Given the description of an element on the screen output the (x, y) to click on. 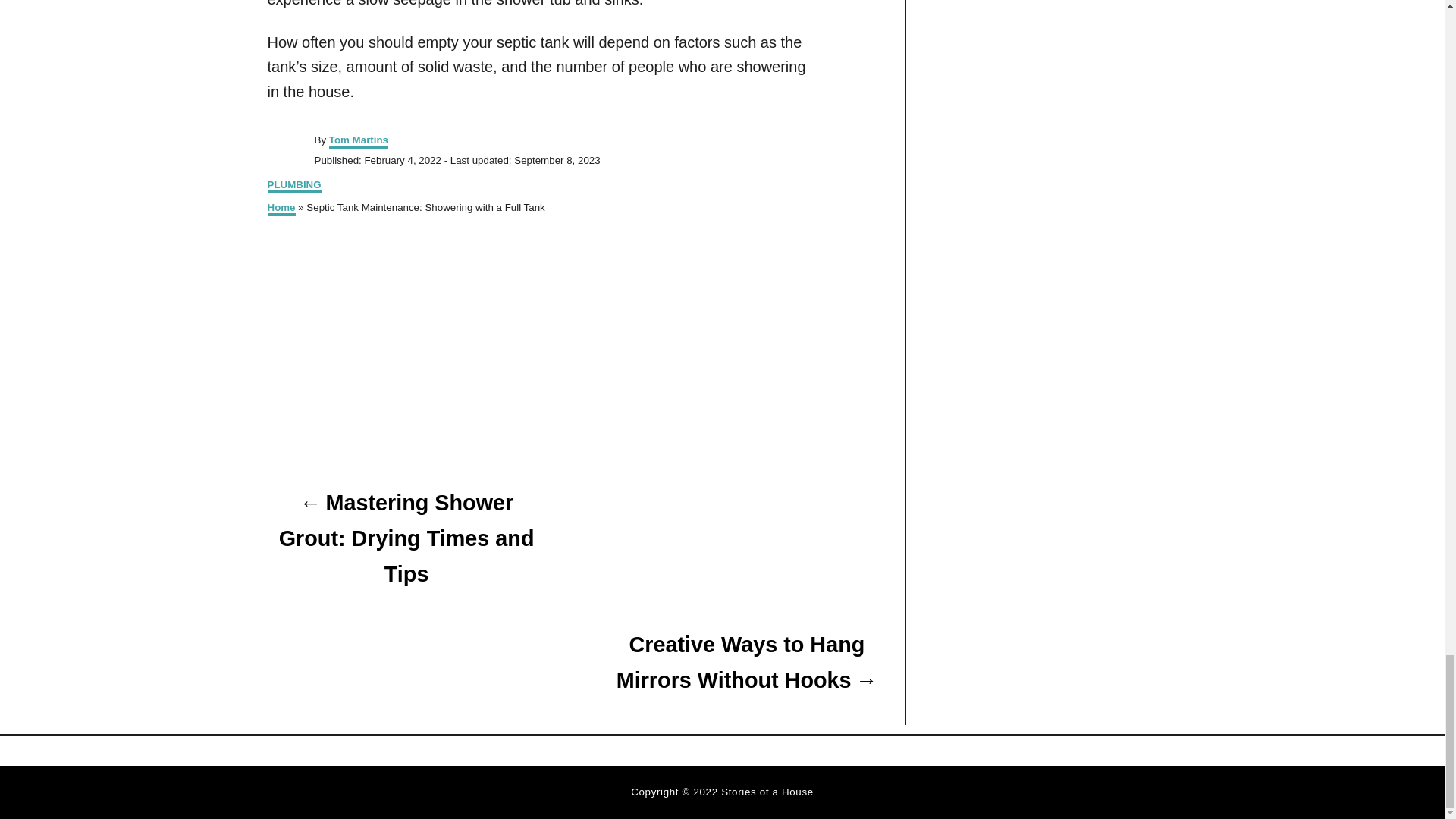
Creative Ways to Hang Mirrors Without Hooks (746, 662)
Home (280, 208)
Mastering Shower Grout: Drying Times and Tips (405, 538)
PLUMBING (293, 186)
Tom Martins (358, 141)
